Given the description of an element on the screen output the (x, y) to click on. 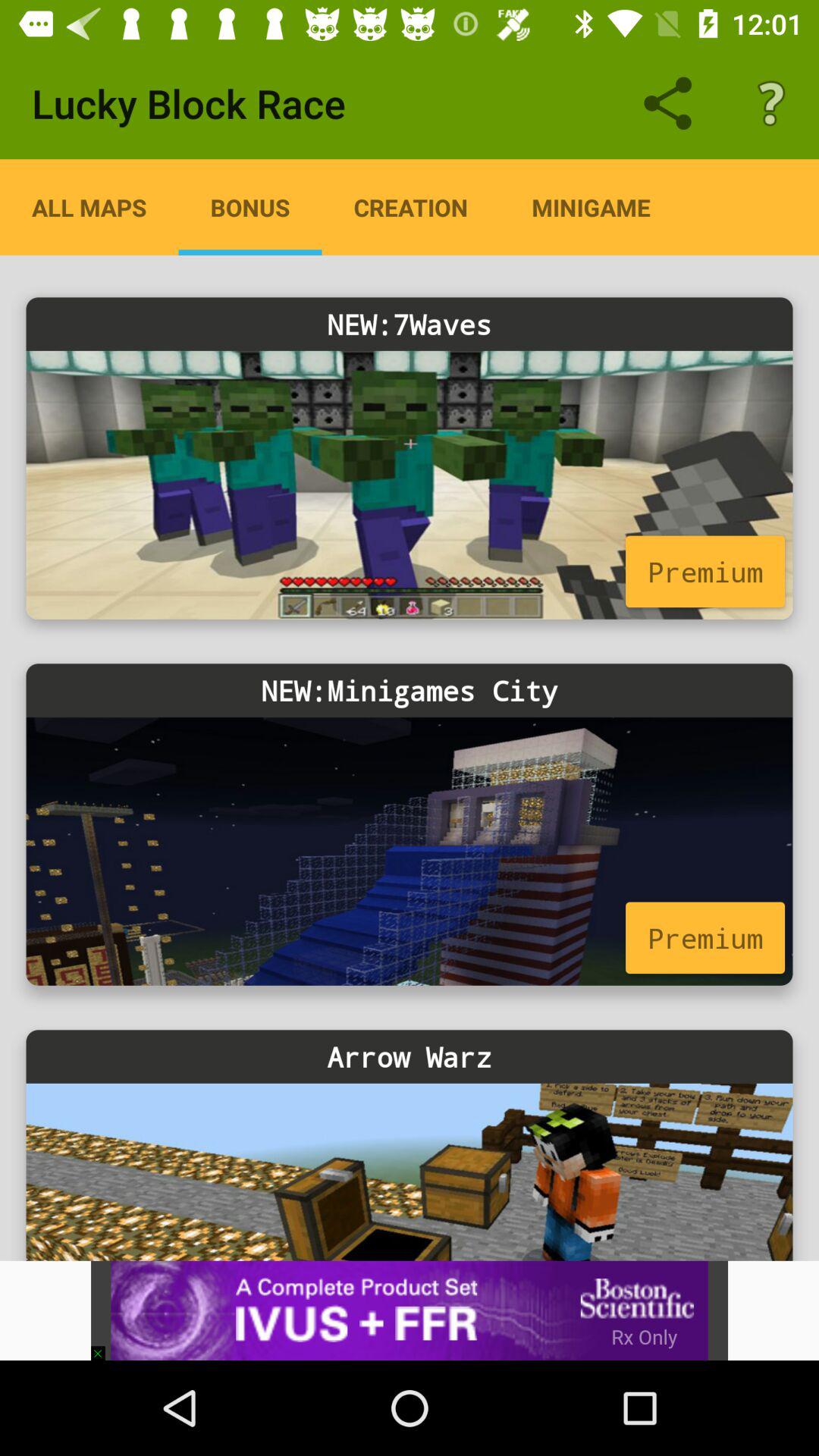
click the icon next to the creation icon (249, 207)
